Given the description of an element on the screen output the (x, y) to click on. 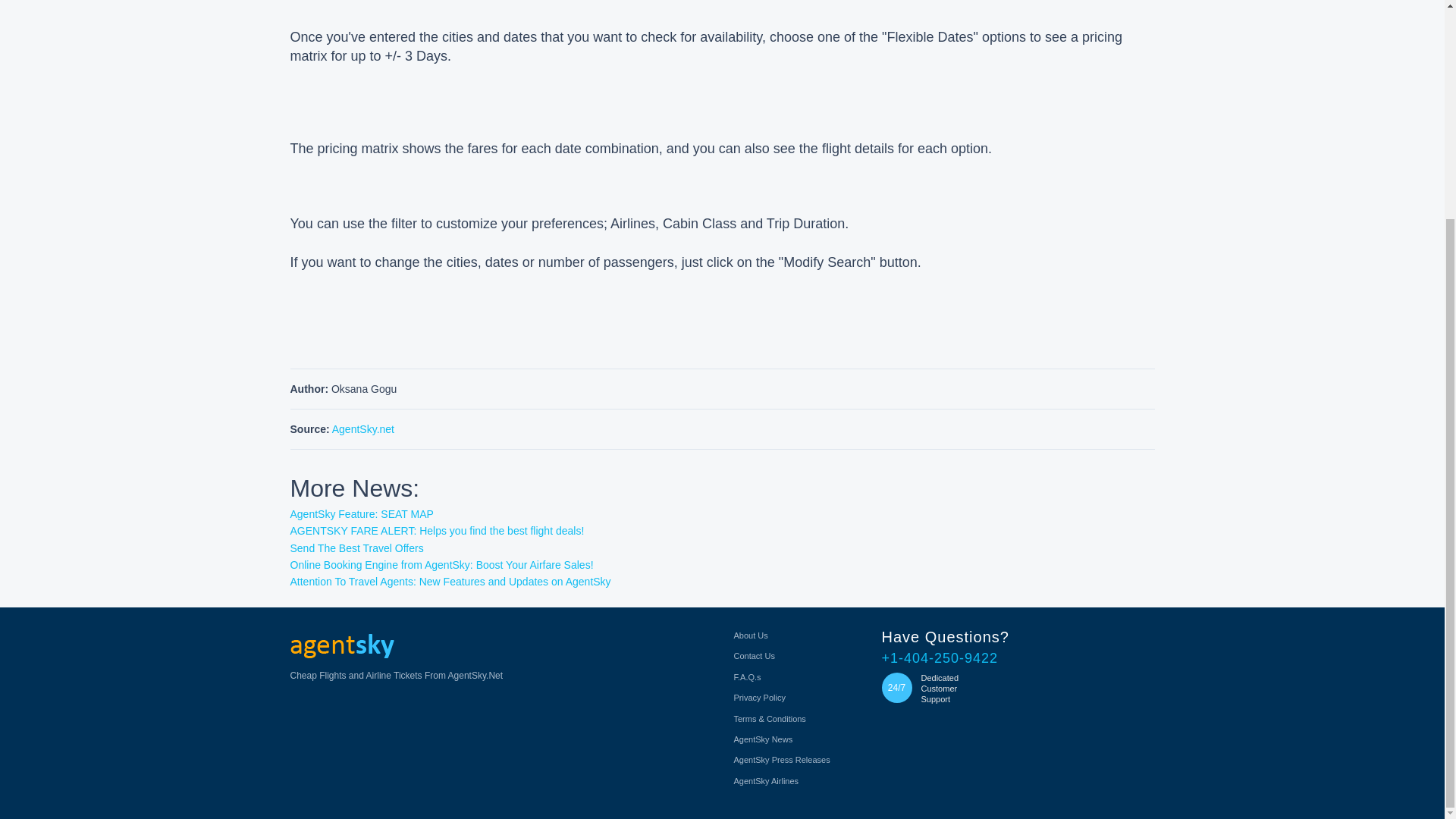
Send The Best Travel Offers (356, 548)
AGENTSKY FARE ALERT: Helps you find the best flight deals! (436, 530)
AgentSky.net (362, 428)
AgentSky News (763, 738)
AgentSky Feature: SEAT MAP (360, 513)
AgentSky.Net (341, 645)
AgentSky Airlines (766, 780)
F.A.Q.s (747, 676)
About Us (750, 634)
Contact Us (753, 655)
AgentSky Press Releases (781, 759)
Privacy Policy (759, 696)
